Given the description of an element on the screen output the (x, y) to click on. 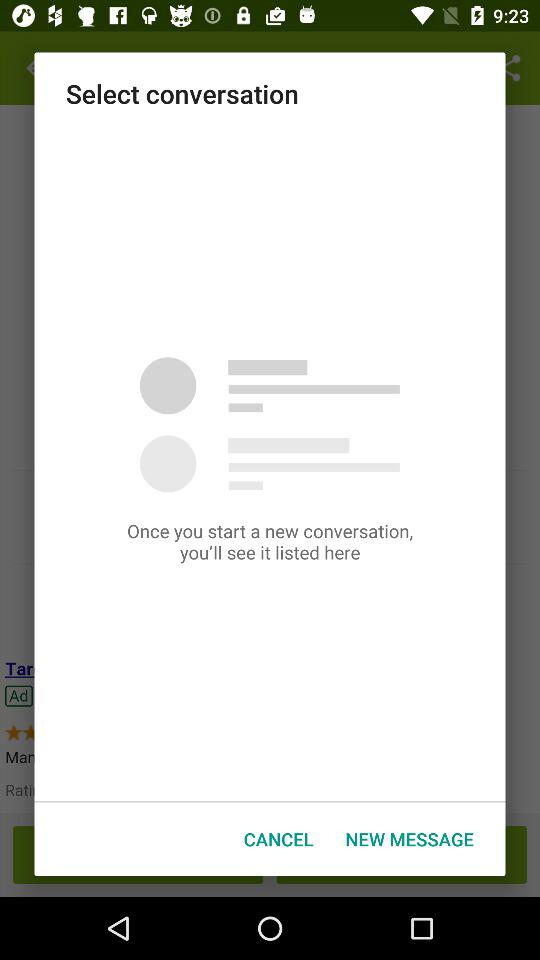
turn off item next to the new message (278, 838)
